Given the description of an element on the screen output the (x, y) to click on. 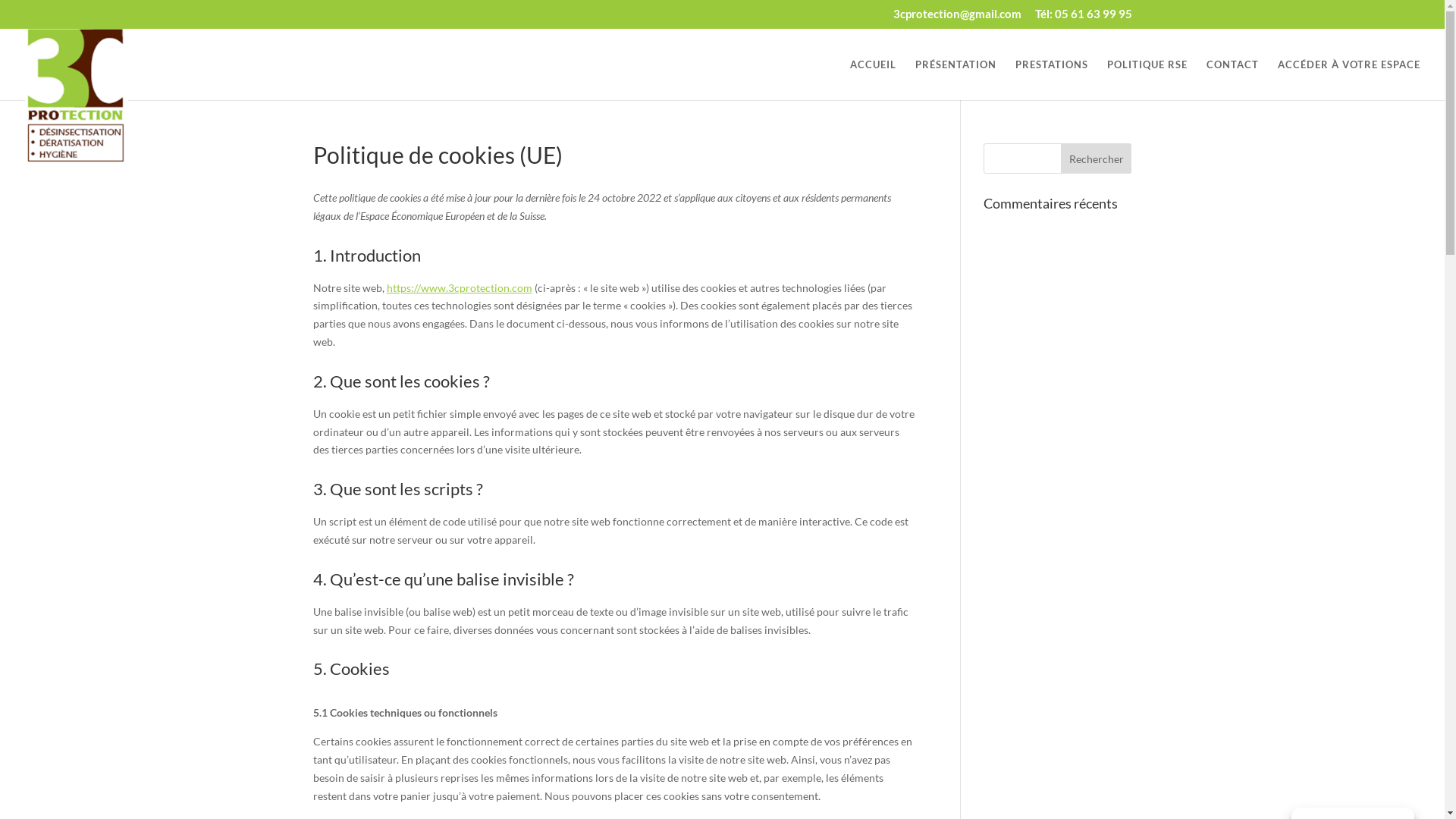
https://www.3cprotection.com Element type: text (459, 287)
CONTACT Element type: text (1232, 79)
3cprotection@gmail.com Element type: text (957, 18)
PRESTATIONS Element type: text (1051, 79)
ACCUEIL Element type: text (873, 79)
POLITIQUE RSE Element type: text (1147, 79)
Rechercher Element type: text (1096, 158)
